Given the description of an element on the screen output the (x, y) to click on. 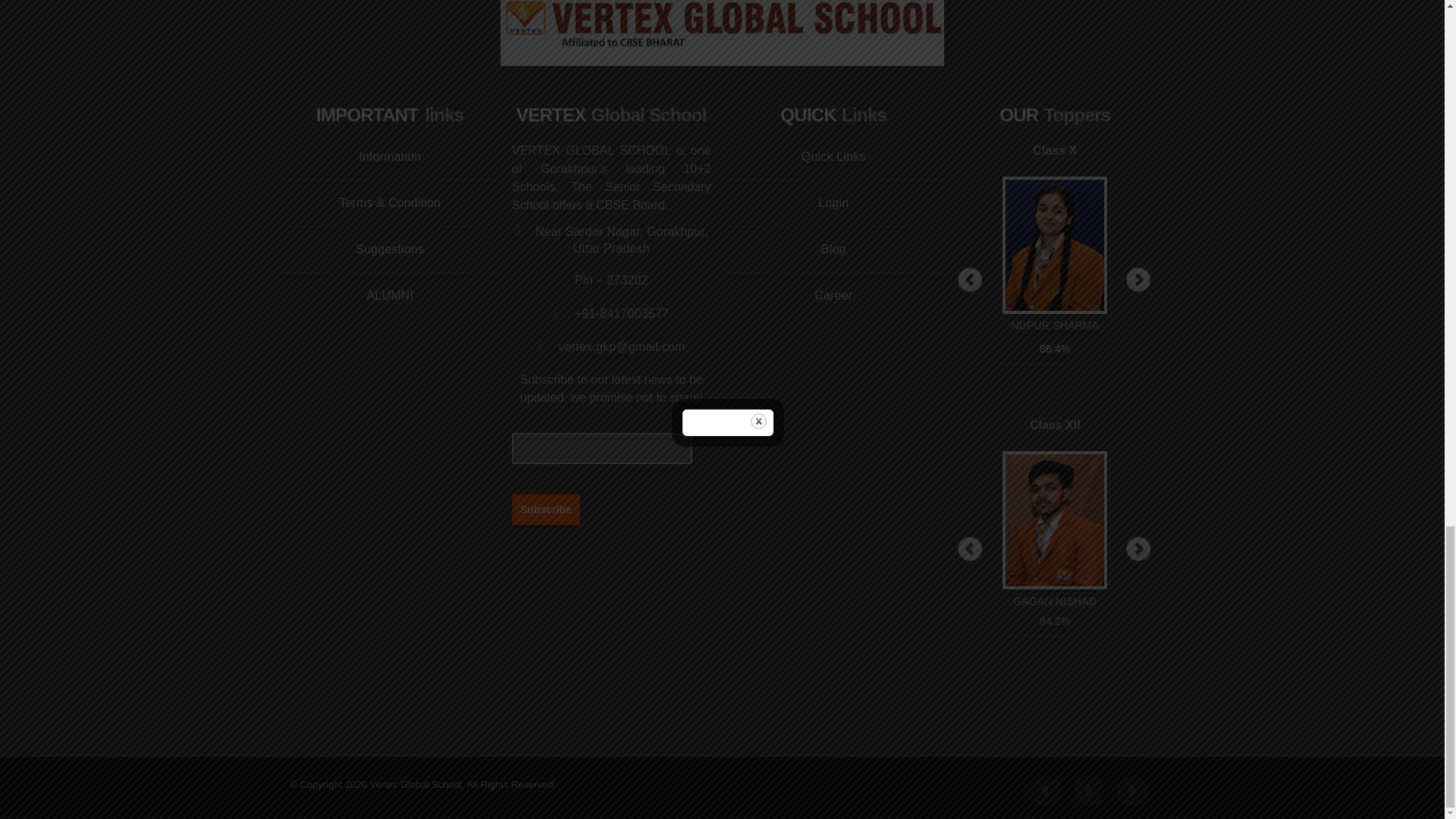
Subscribe (545, 508)
